Given the description of an element on the screen output the (x, y) to click on. 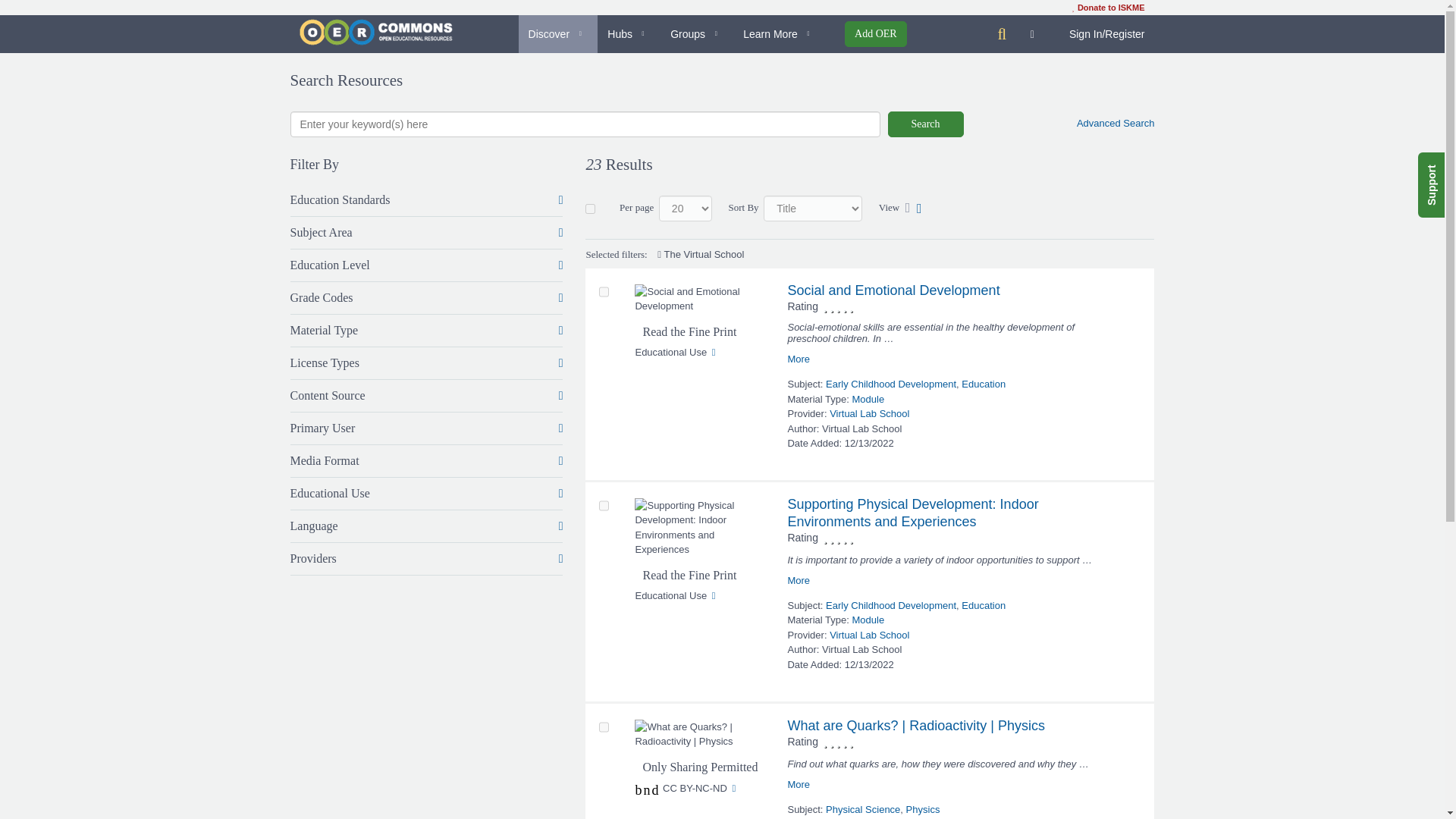
Hubs (628, 34)
Donate to ISKME (1107, 7)
Show add OER options (875, 33)
Discover (558, 34)
Groups (697, 34)
Add OER (875, 33)
Learn More (779, 34)
on (590, 207)
Search keywords (584, 124)
